Given the description of an element on the screen output the (x, y) to click on. 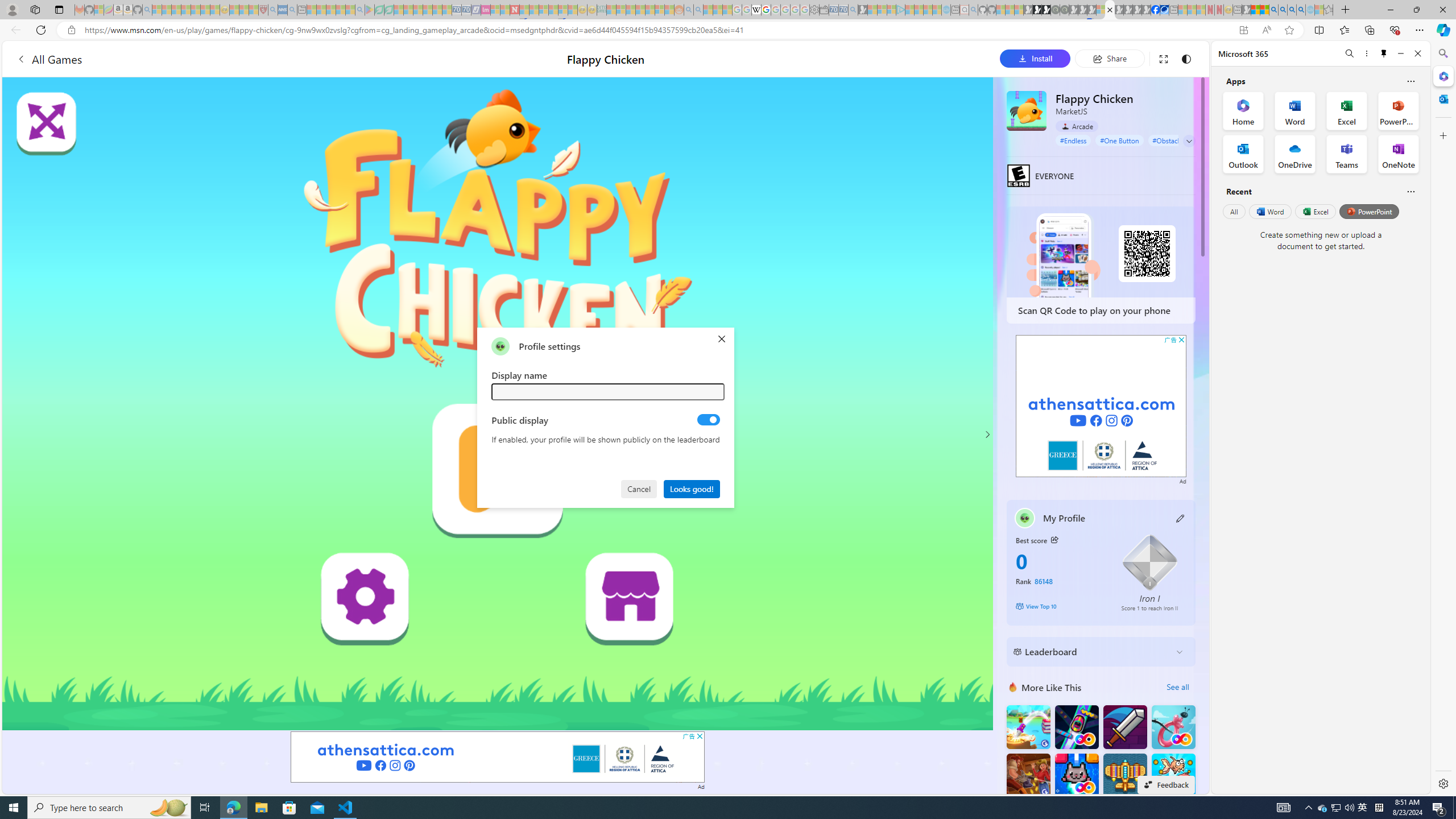
Close Microsoft 365 pane (1442, 76)
Advertisement (1101, 405)
Bing AI - Search (1272, 9)
More Like This (1012, 686)
Trusted Community Engagement and Contributions | Guidelines (524, 9)
Excel Office App (1346, 110)
View Top 10 (1060, 605)
All Games (49, 58)
#Endless (1073, 140)
